Given the description of an element on the screen output the (x, y) to click on. 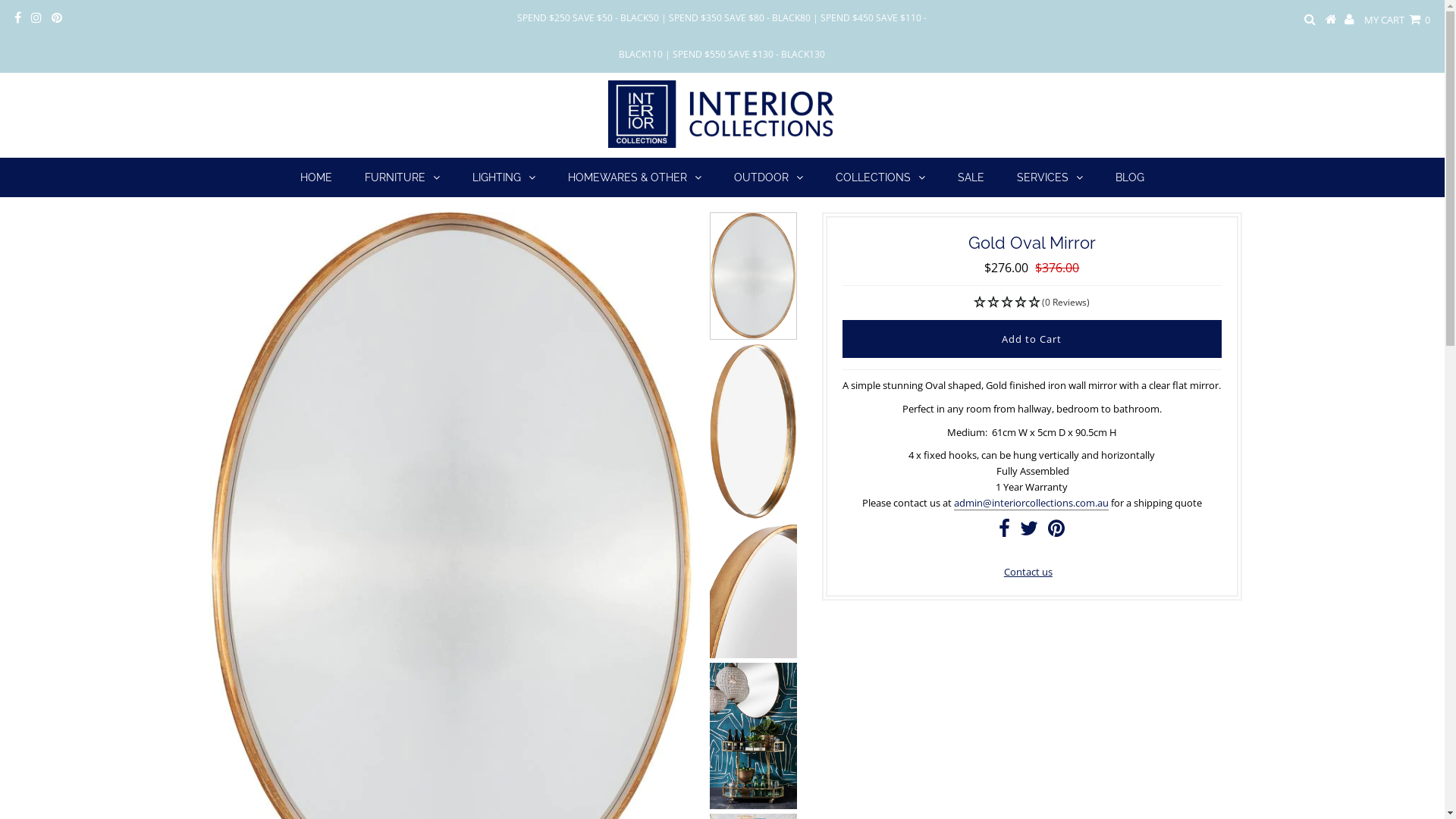
BLOG Element type: text (1129, 177)
SERVICES Element type: text (1049, 177)
HOME Element type: text (316, 177)
FURNITURE Element type: text (402, 177)
LIGHTING Element type: text (503, 177)
Add to Cart Element type: text (1031, 338)
HOMEWARES & OTHER Element type: text (634, 177)
OUTDOOR Element type: text (768, 177)
Share on Pinterest Element type: hover (1056, 531)
COLLECTIONS Element type: text (880, 177)
Contact us Element type: text (1028, 571)
MY CART    0 Element type: text (1397, 19)
Share on Facebook Element type: hover (1004, 531)
SALE Element type: text (970, 177)
admin@interiorcollections.com.au Element type: text (1030, 502)
Share on Twitter Element type: hover (1028, 531)
